Given the description of an element on the screen output the (x, y) to click on. 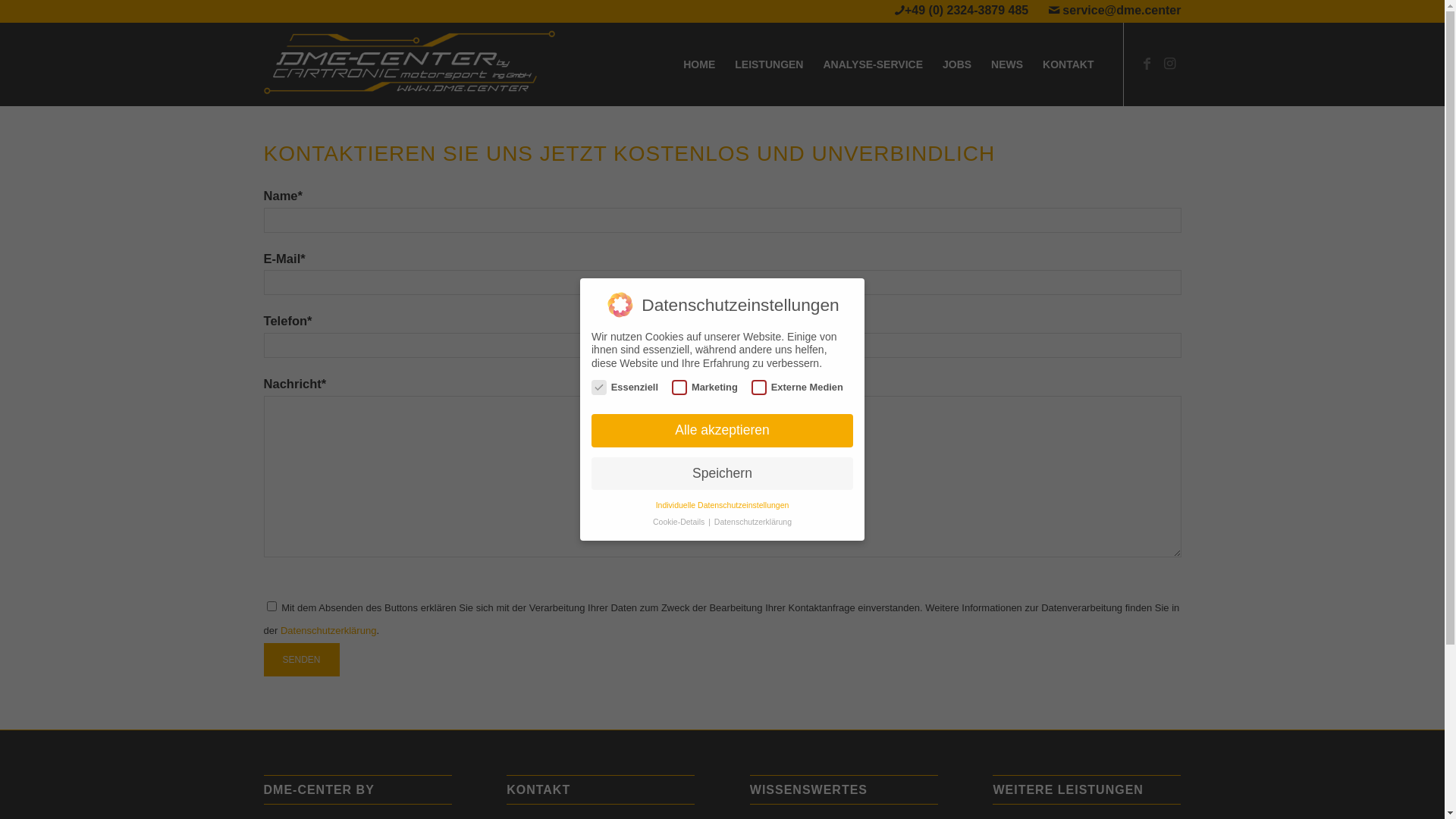
Alle akzeptieren Element type: text (722, 430)
ANALYSE-SERVICE Element type: text (871, 64)
Individuelle Datenschutzeinstellungen Element type: text (722, 504)
Cookie-Details Element type: text (679, 521)
HOME Element type: text (698, 64)
+49 (0) 2324-3879 485 Element type: text (966, 9)
JOBS Element type: text (956, 64)
service@dme.center Element type: text (1121, 9)
LEISTUNGEN Element type: text (768, 64)
DME Logo-weiss Element type: hover (409, 64)
Facebook Element type: hover (1146, 63)
Speichern Element type: text (722, 473)
NEWS Element type: text (1006, 64)
Senden Element type: text (301, 659)
Instagram Element type: hover (1169, 63)
KONTAKT Element type: text (1067, 64)
